Given the description of an element on the screen output the (x, y) to click on. 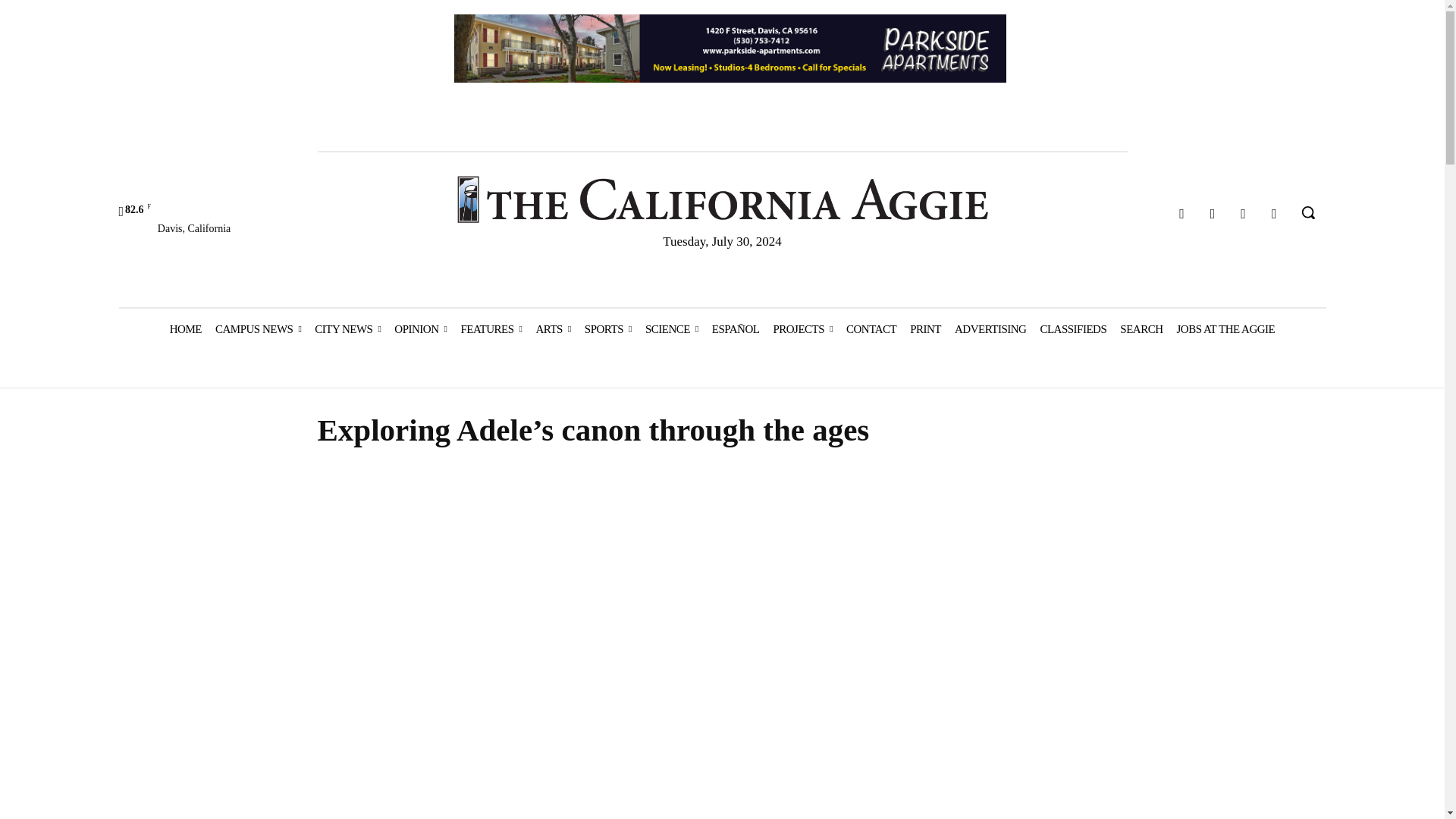
CAMPUS NEWS (257, 329)
Youtube (1273, 214)
Facebook (1181, 214)
Twitter (1243, 214)
HOME (185, 329)
Instagram (1212, 214)
